Given the description of an element on the screen output the (x, y) to click on. 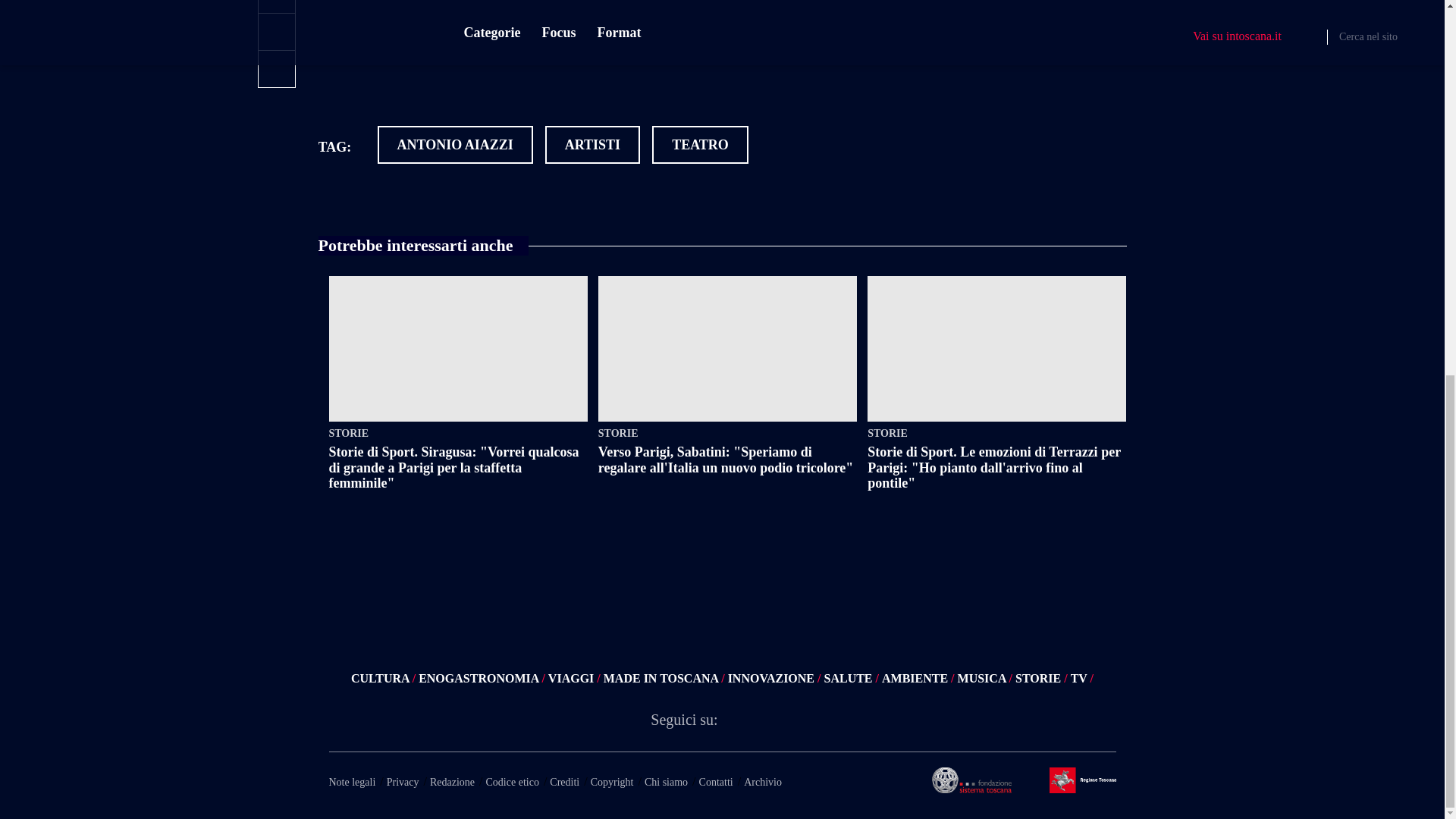
TEATRO (700, 144)
STORIE (458, 433)
ARTISTI (592, 144)
ANTONIO AIAZZI (454, 144)
